Given the description of an element on the screen output the (x, y) to click on. 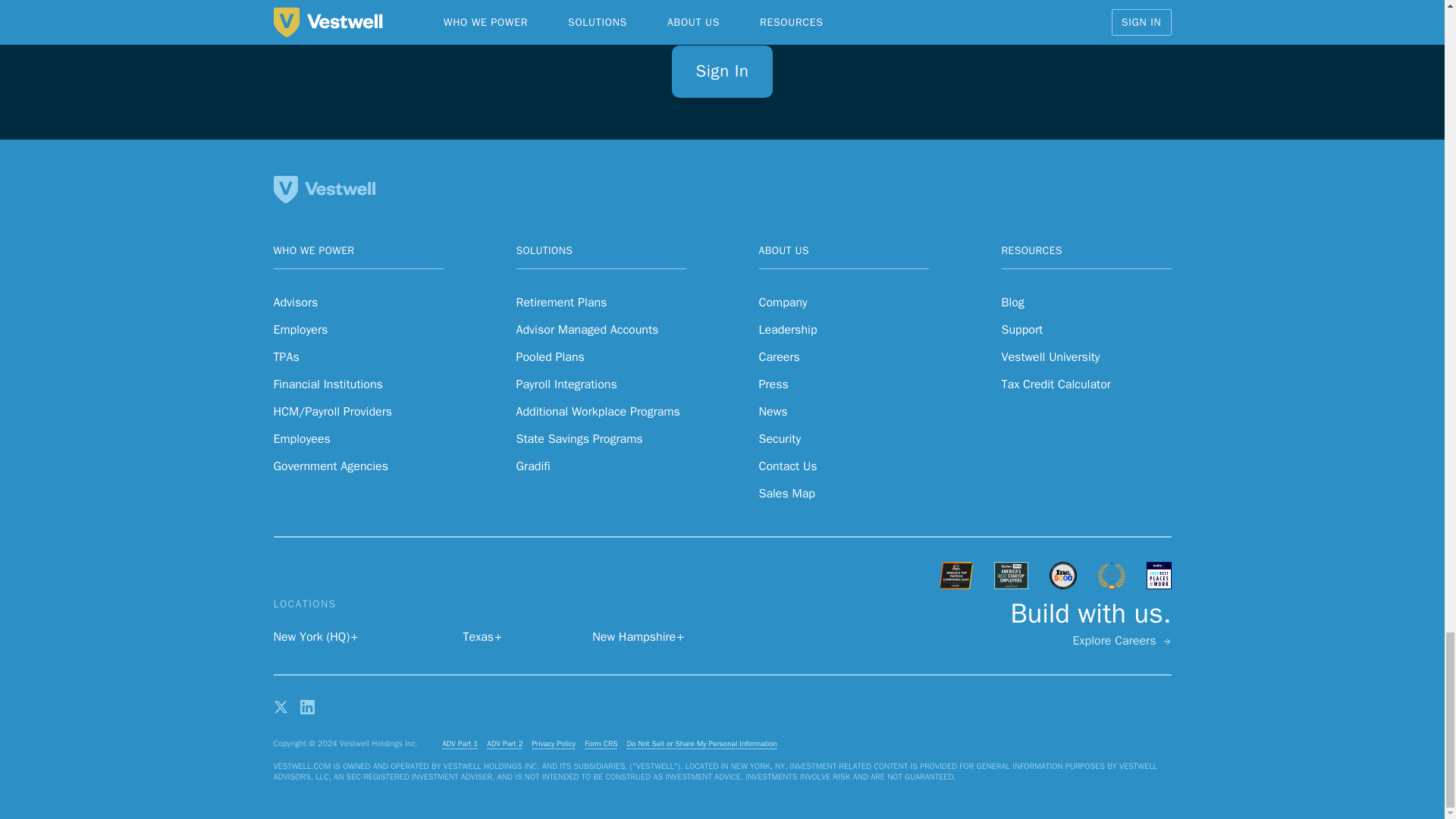
Financial Institutions (327, 384)
Careers (778, 356)
TPAs (285, 356)
Support (1021, 329)
Employees (301, 438)
Payroll Integrations (565, 384)
Leadership (787, 329)
Employers (300, 329)
Company (782, 302)
Vestwell University (1050, 356)
Gradifi (532, 466)
Contact Us (787, 466)
Advisor Managed Accounts (586, 329)
Additional Workplace Programs (597, 411)
Open twitter profile (279, 707)
